Given the description of an element on the screen output the (x, y) to click on. 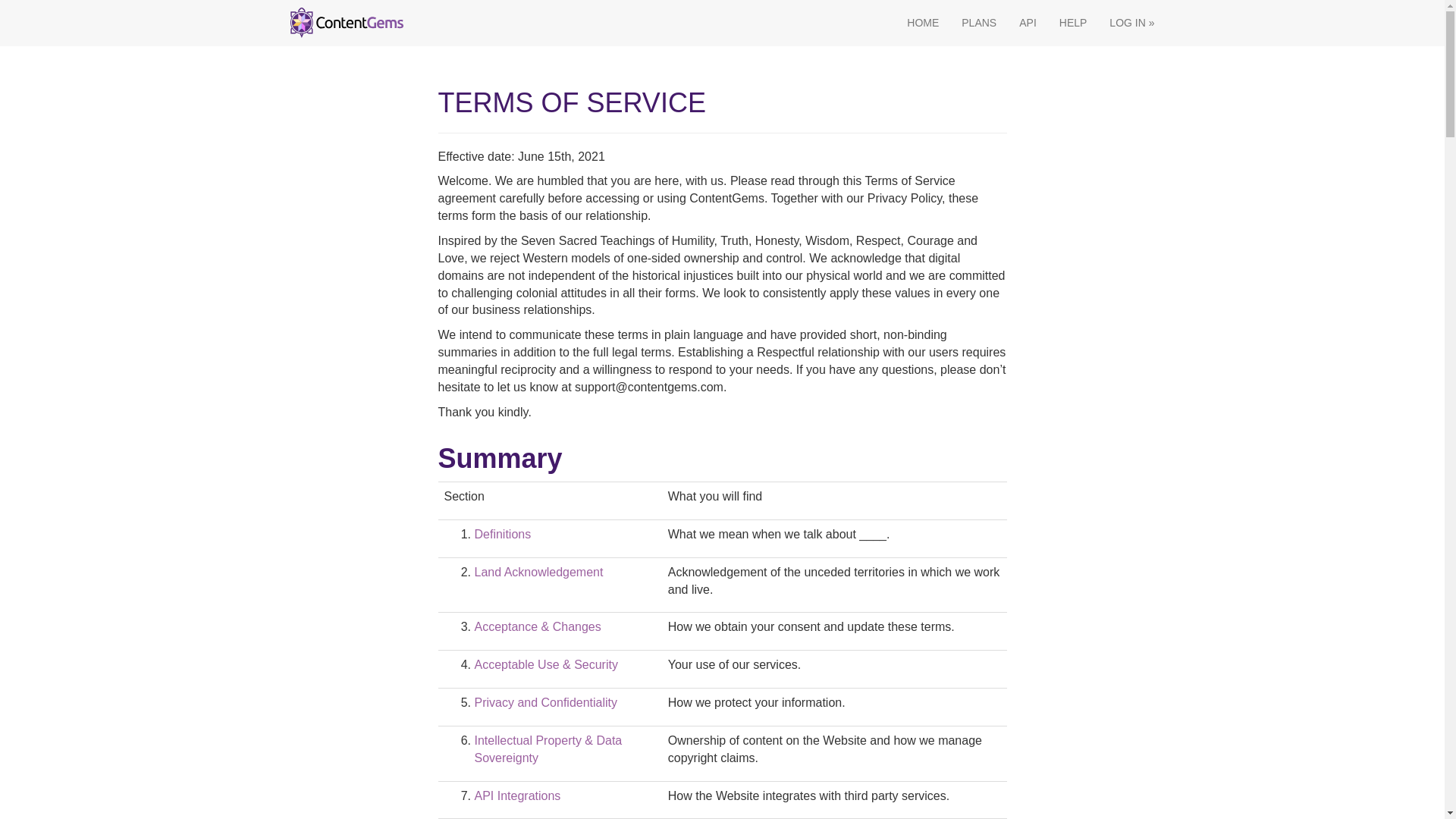
PLANS (978, 22)
HELP (1073, 22)
HOME (922, 22)
Definitions (502, 533)
API Integrations (517, 795)
Land Acknowledgement (539, 571)
Privacy and Confidentiality (545, 702)
